Given the description of an element on the screen output the (x, y) to click on. 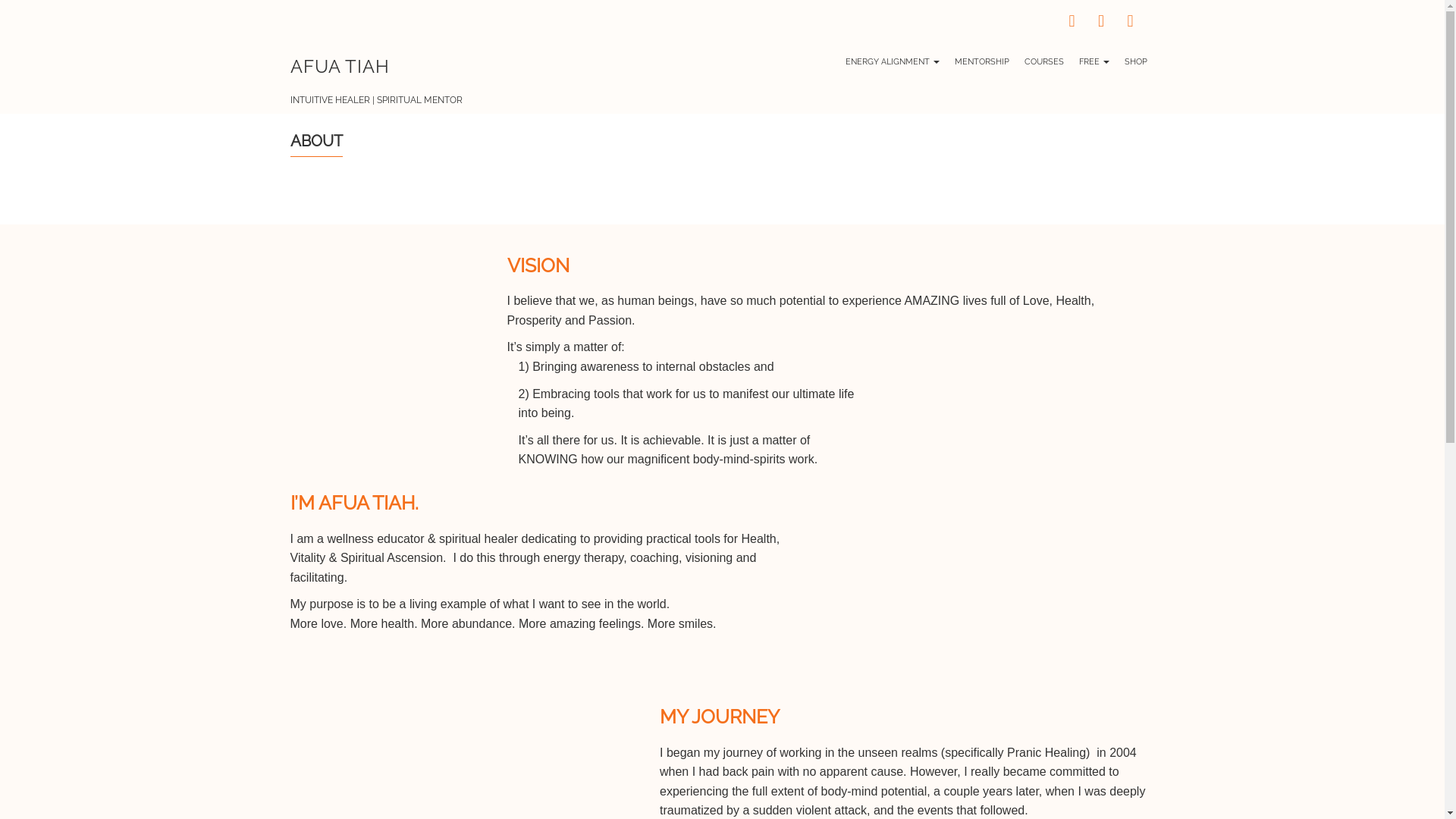
COURSES Element type: text (1043, 61)
AFUA TIAH Element type: text (339, 66)
MENTORSHIP Element type: text (981, 61)
FREE Element type: text (1093, 61)
FACEBOOK Element type: text (1071, 23)
INSTAGRAM Element type: text (1101, 23)
YOUTUBE Element type: text (1129, 23)
ENERGY ALIGNMENT Element type: text (891, 61)
ABOUT Element type: text (315, 143)
SHOP Element type: text (1135, 61)
